Given the description of an element on the screen output the (x, y) to click on. 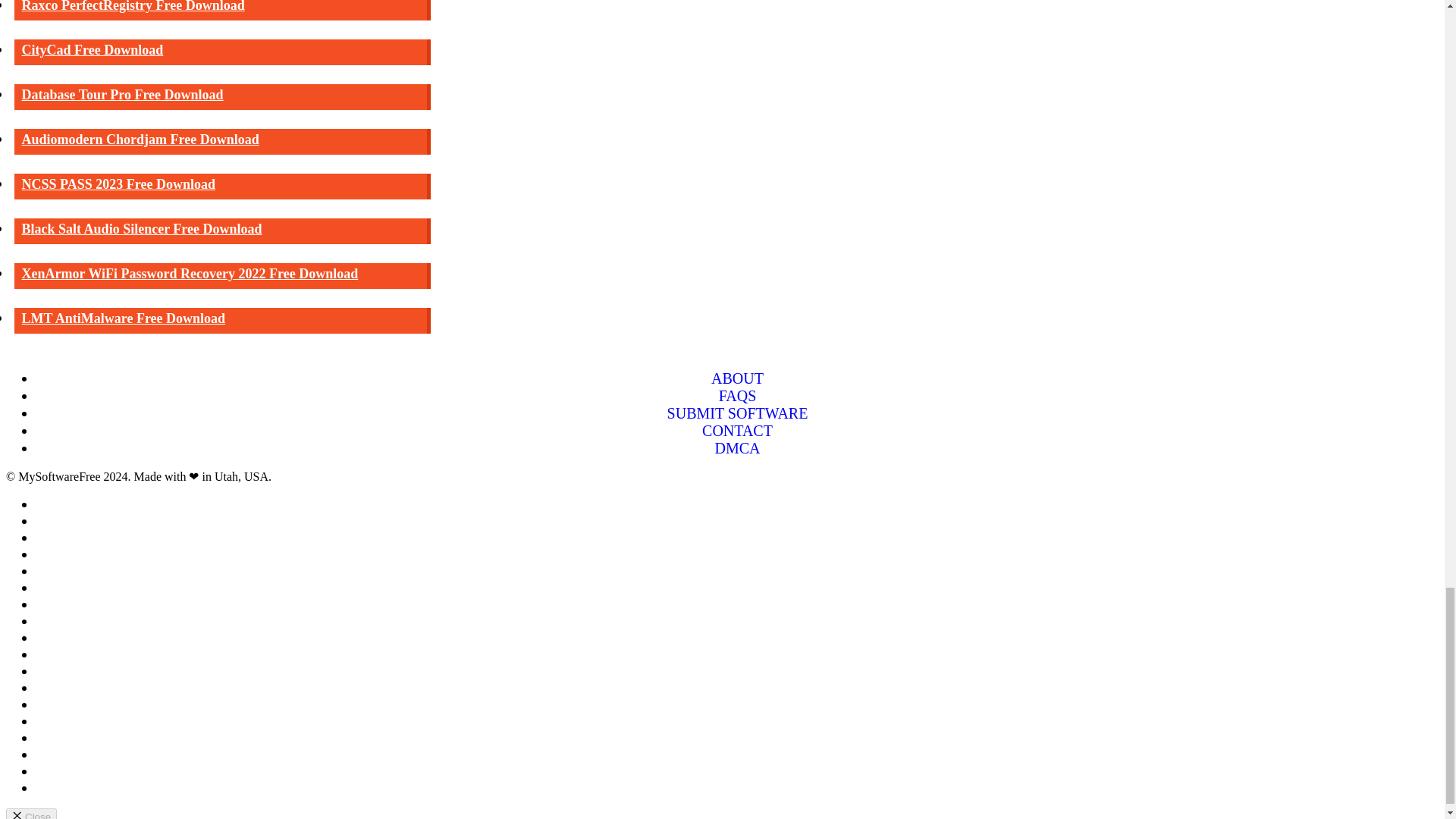
CityCad Free Download (222, 52)
Raxco PerfectRegistry Free Download (222, 10)
Database Tour Pro Free Download (222, 96)
